Given the description of an element on the screen output the (x, y) to click on. 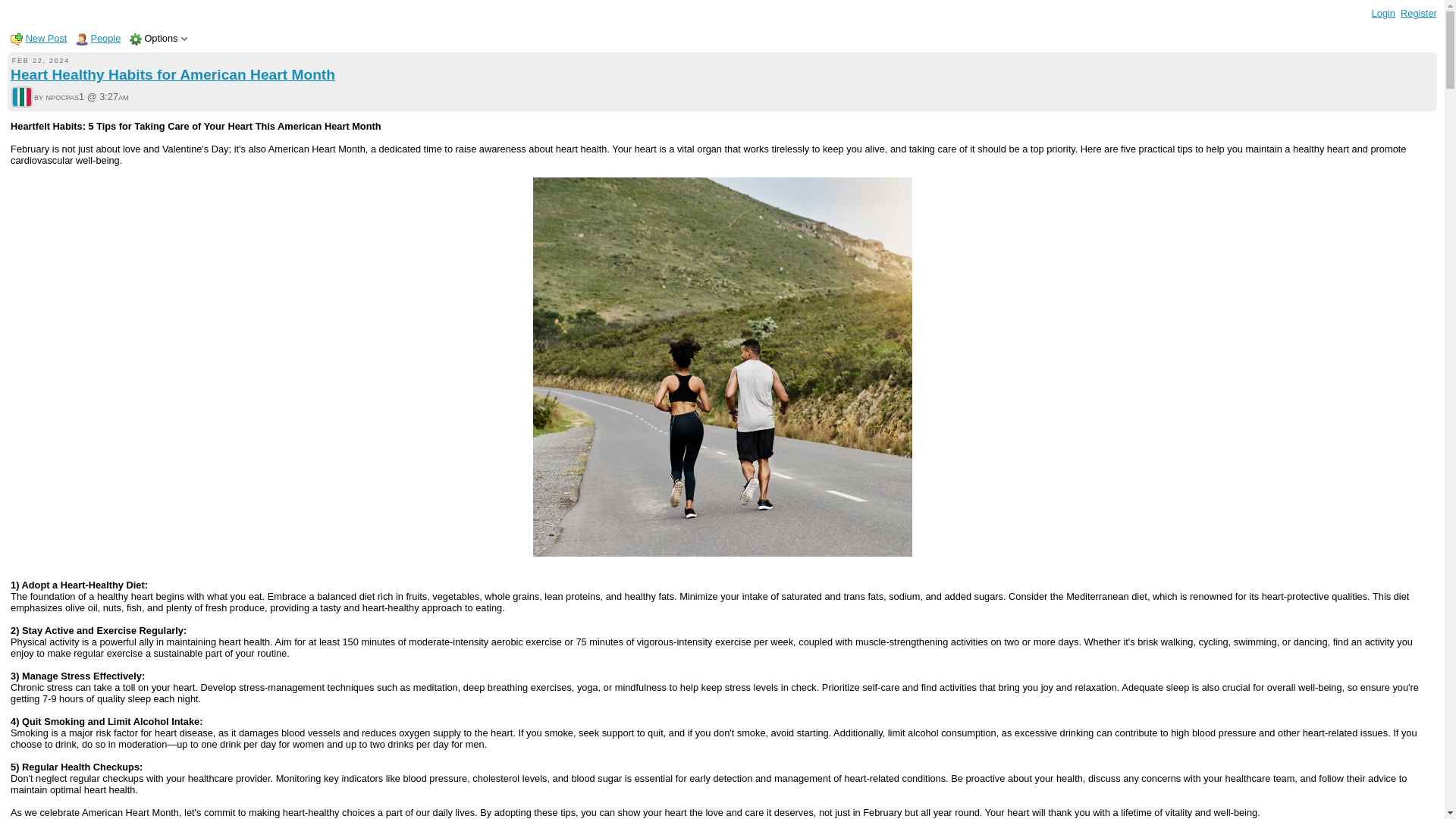
npocpas1 (21, 96)
Heart Healthy Habits for American Heart Month (172, 74)
Post new message in Harrington Group Blog (46, 38)
Login (1382, 12)
People (105, 38)
Options (160, 38)
New Post (46, 38)
Click for more options (160, 38)
View profile of npocpas1 (21, 98)
